Given the description of an element on the screen output the (x, y) to click on. 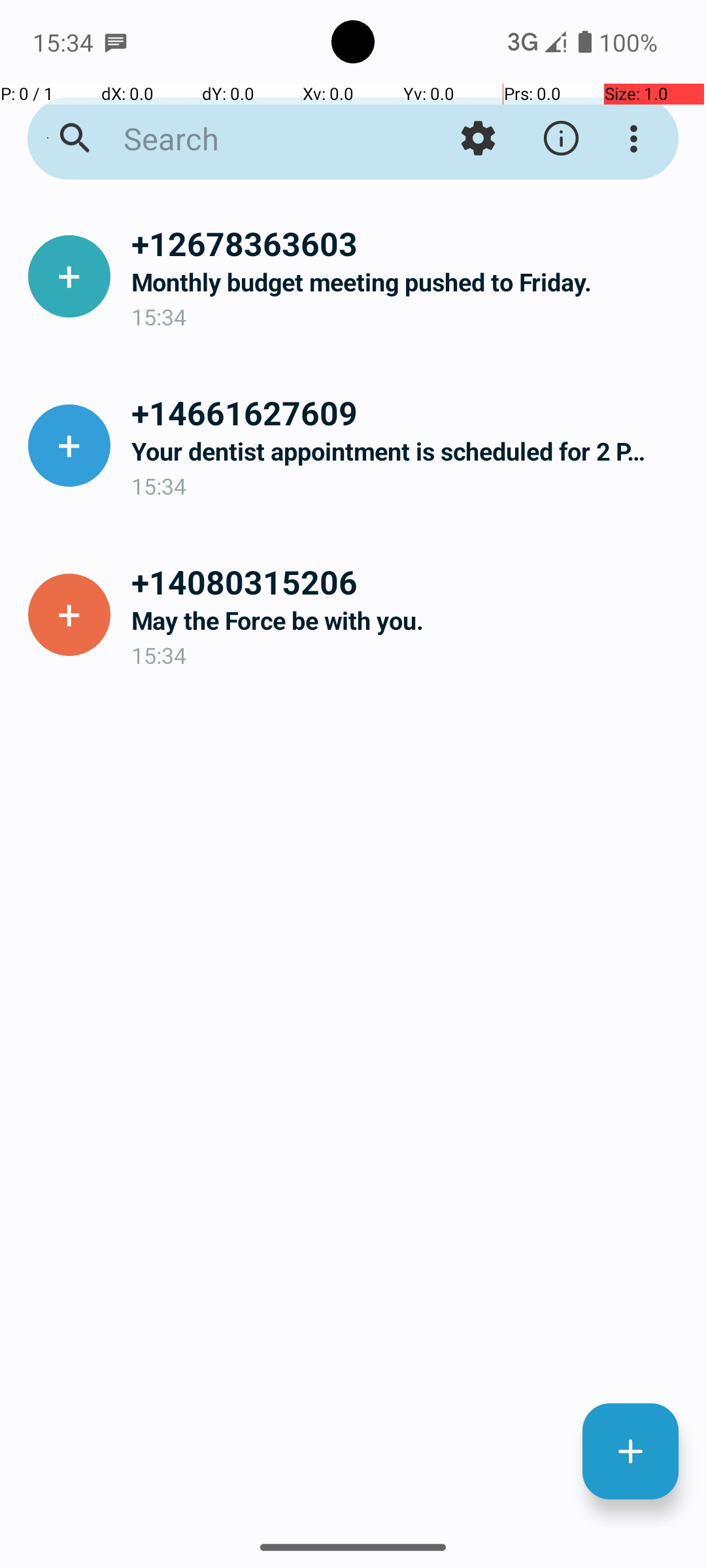
+12678363603 Element type: android.widget.TextView (408, 242)
Monthly budget meeting pushed to Friday. Element type: android.widget.TextView (408, 281)
+14661627609 Element type: android.widget.TextView (408, 412)
Your dentist appointment is scheduled for 2 PM on Thursday. Element type: android.widget.TextView (408, 450)
+14080315206 Element type: android.widget.TextView (408, 581)
May the Force be with you. Element type: android.widget.TextView (408, 620)
